Given the description of an element on the screen output the (x, y) to click on. 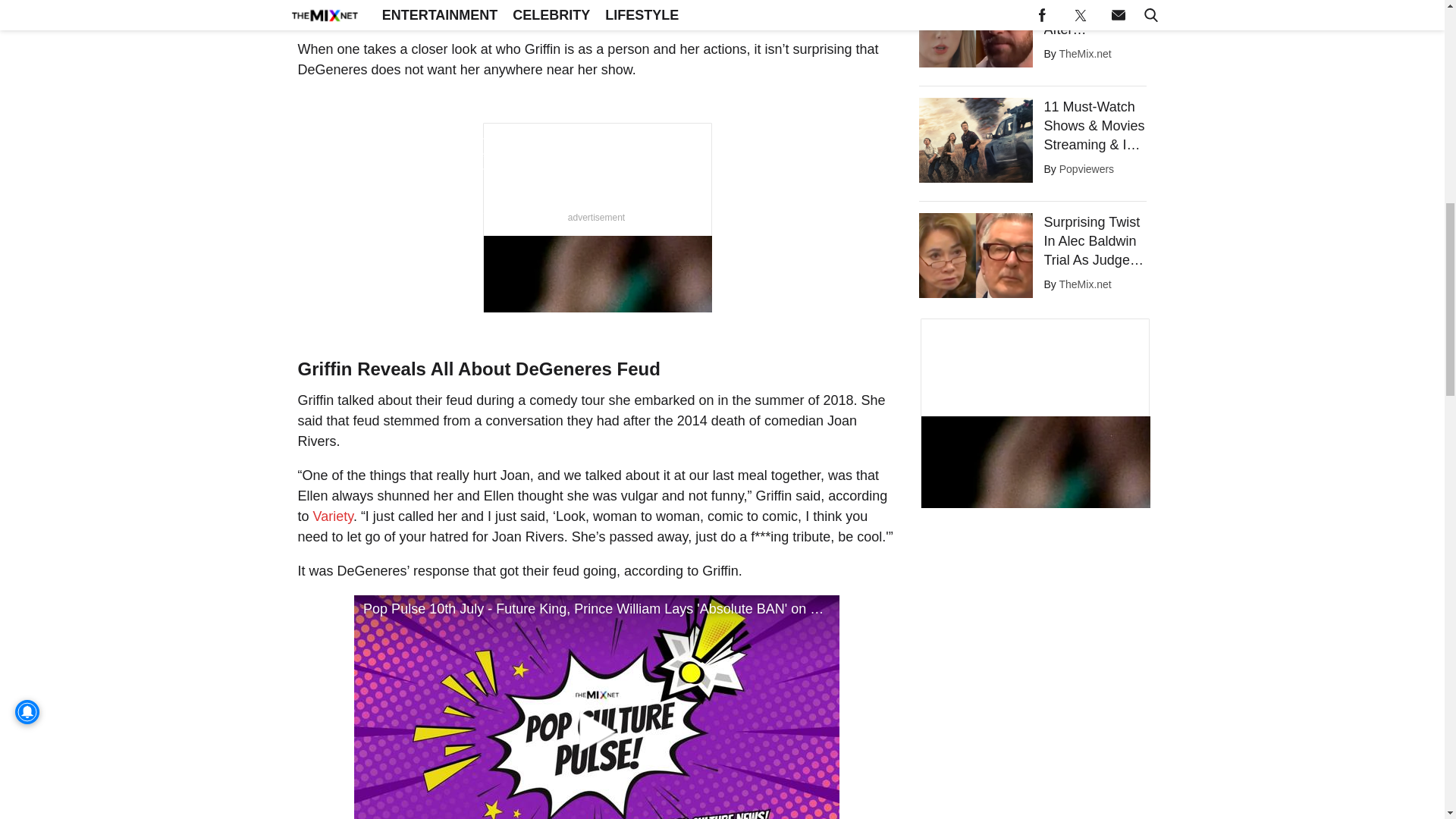
TheMix.net (1084, 53)
Play Video (595, 707)
Variety (333, 516)
Play Video (596, 731)
